Given the description of an element on the screen output the (x, y) to click on. 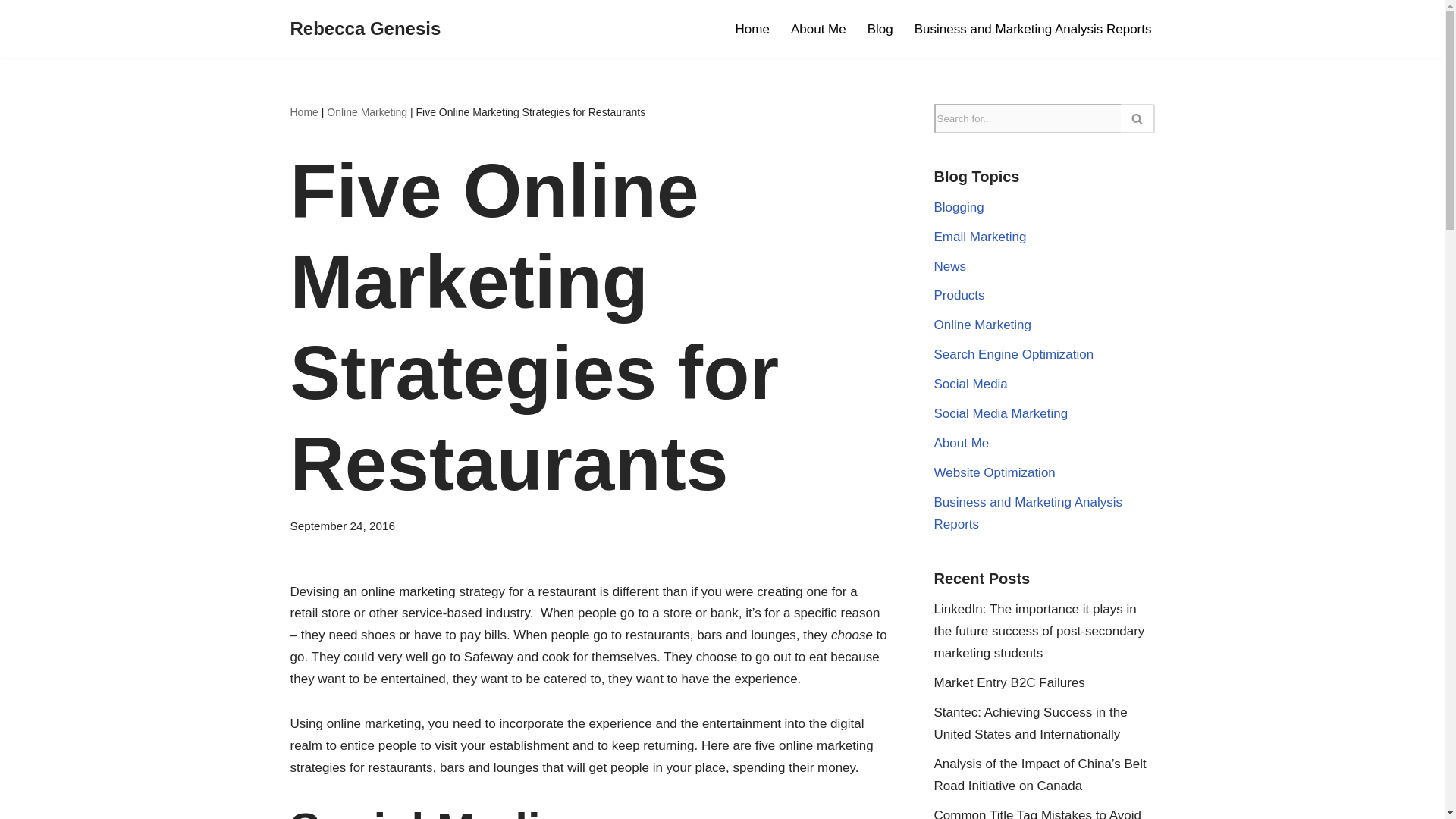
Online Marketing (983, 324)
Business and Marketing Analysis Reports (1028, 513)
About Me (962, 442)
Search Engine Optimization (1014, 354)
Social Media Marketing (1001, 413)
Blogging (959, 206)
Email Marketing (980, 237)
Market Entry B2C Failures (1009, 682)
News (950, 266)
Online Marketing (366, 111)
Business and Marketing Analysis Reports (1032, 28)
About Me (817, 28)
Website Optimization (994, 472)
Products (959, 295)
